Given the description of an element on the screen output the (x, y) to click on. 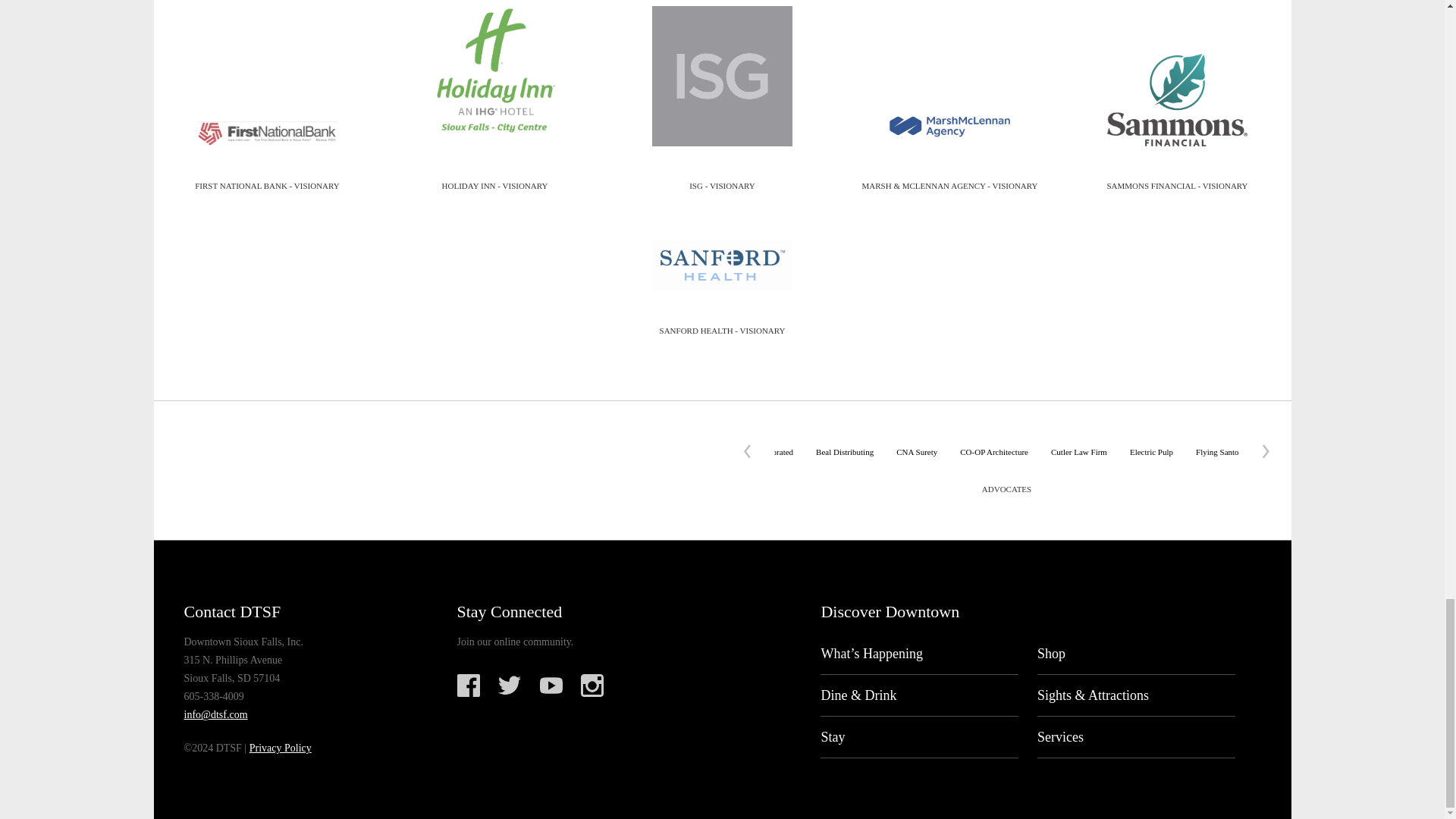
ISG - VISIONARY (721, 84)
Holiday Inn - VISIONARY (494, 84)
First National Bank - VISIONARY (266, 133)
Sammons Financial - VISIONARY (1176, 99)
